Given the description of an element on the screen output the (x, y) to click on. 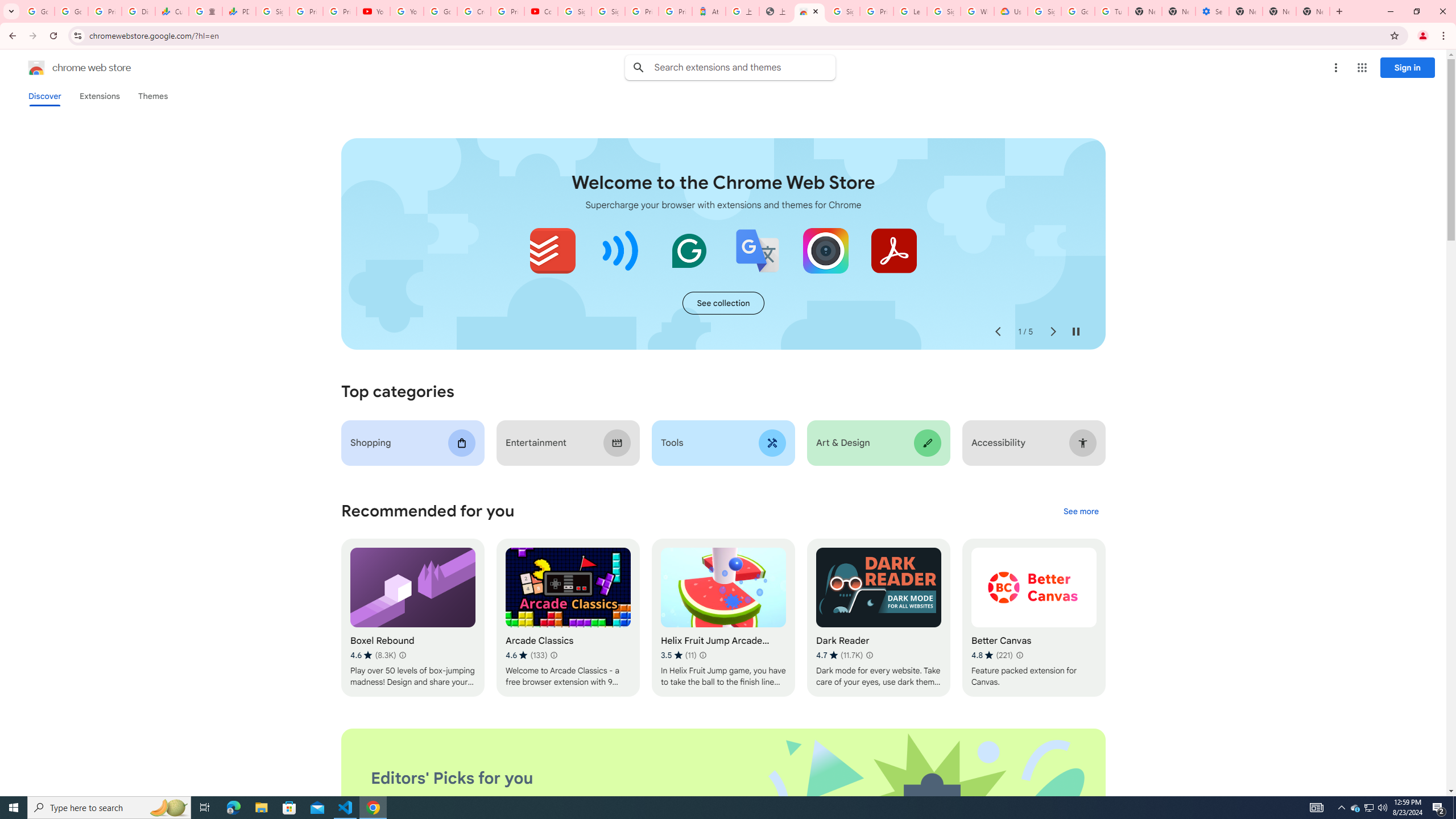
Sign in - Google Accounts (842, 11)
Learn more about results and reviews "Dark Reader" (869, 655)
Chrome Web Store logo chrome web store (67, 67)
Privacy Checkup (339, 11)
PDD Holdings Inc - ADR (PDD) Price & News - Google Finance (238, 11)
Learn more about results and reviews "Arcade Classics" (553, 655)
Settings - Addresses and more (1212, 11)
Create your Google Account (474, 11)
Helix Fruit Jump Arcade Game (722, 617)
